Given the description of an element on the screen output the (x, y) to click on. 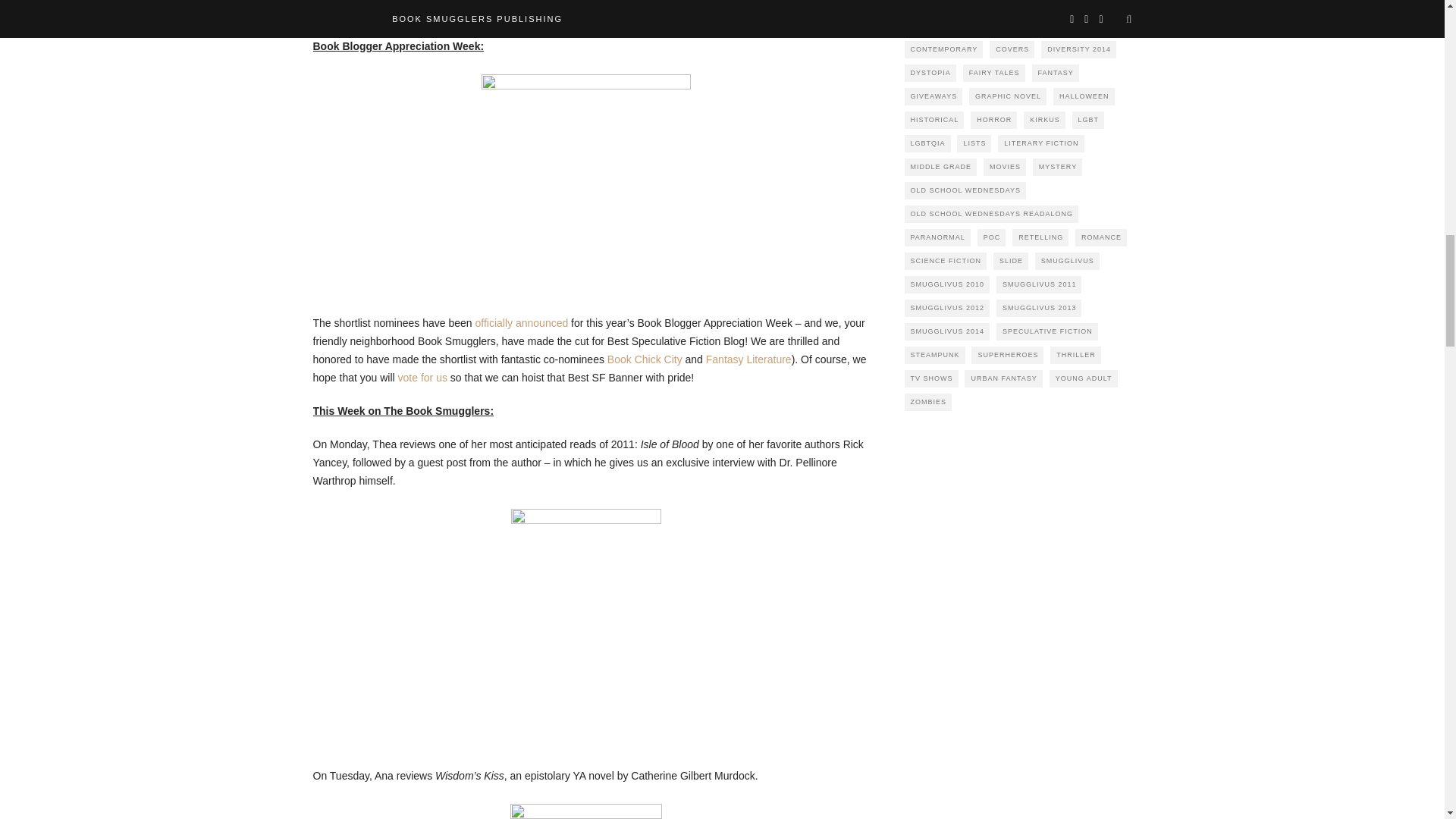
Book Chick City (644, 358)
vote for us (421, 377)
Wisdom's Kiss (585, 811)
officially announced (522, 322)
Fantasy Literature (749, 358)
BBAW Best SF Blog (585, 178)
